Given the description of an element on the screen output the (x, y) to click on. 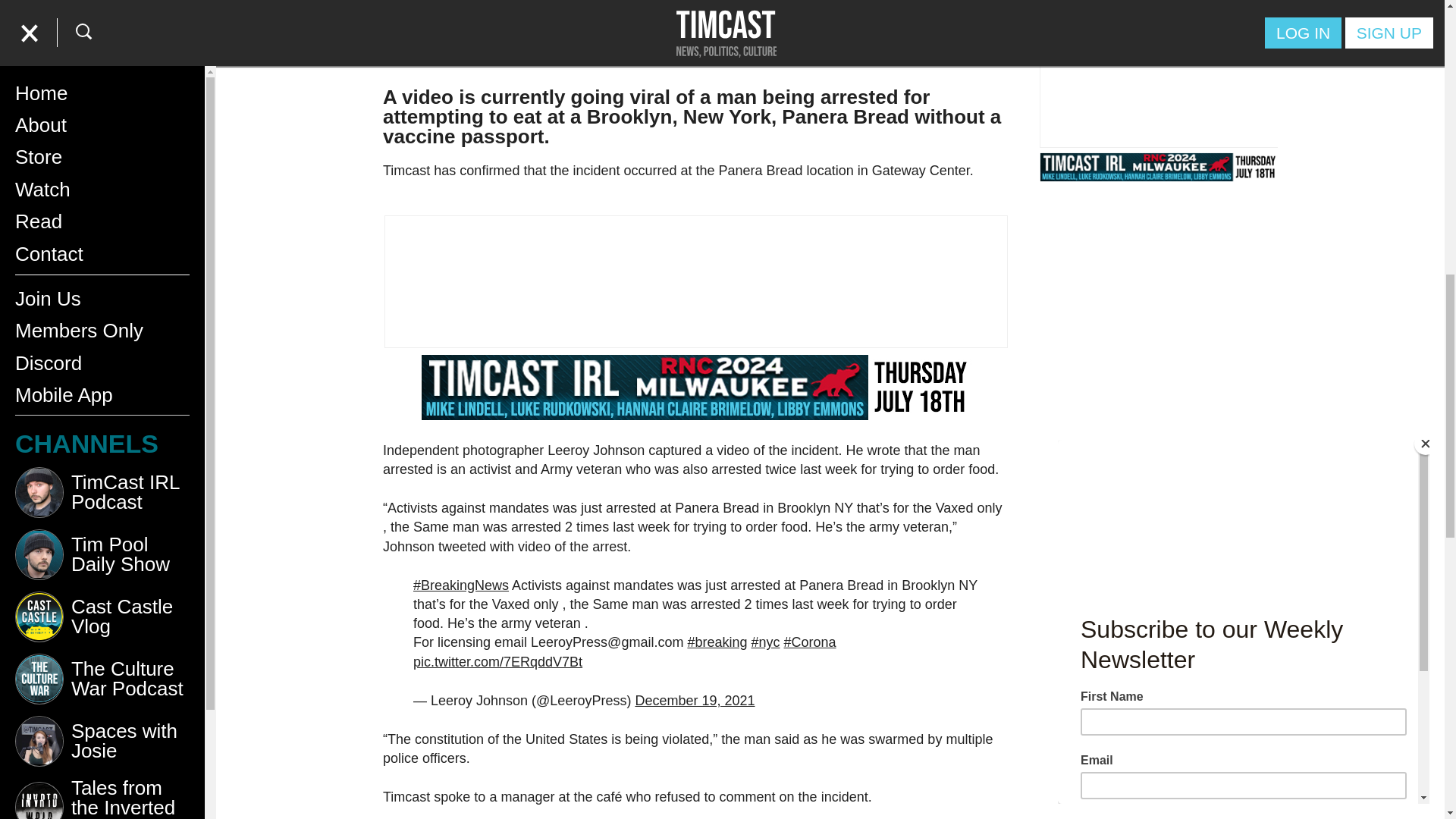
December 19, 2021 (694, 700)
Gamer Maids (101, 247)
Chicken-City (101, 122)
Tales from the Inverted World (101, 14)
Pop Culture Crisis (101, 60)
Documentaries (101, 184)
